Given the description of an element on the screen output the (x, y) to click on. 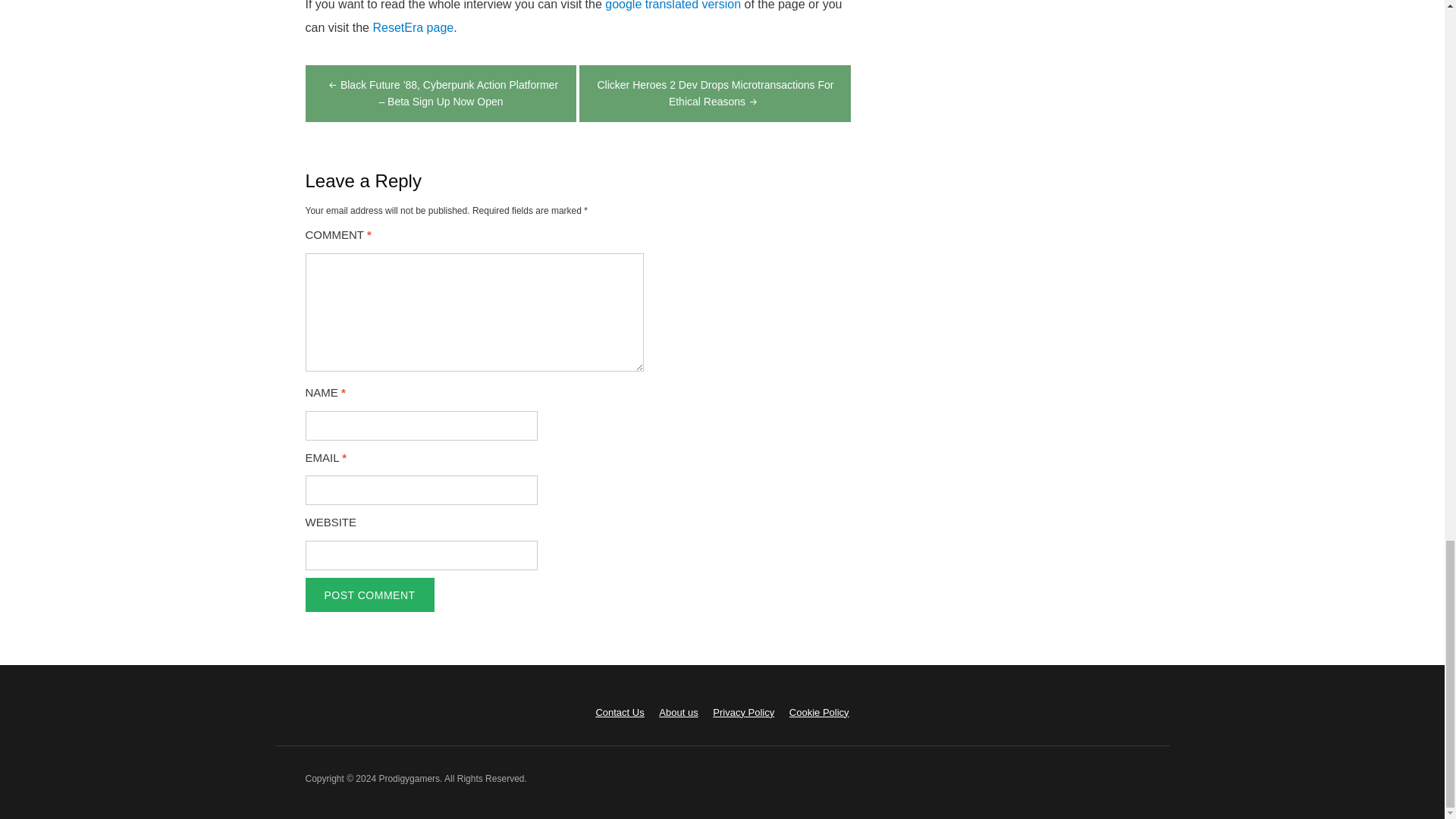
Post Comment (368, 594)
ResetEra page (412, 27)
google translated version (673, 5)
